Given the description of an element on the screen output the (x, y) to click on. 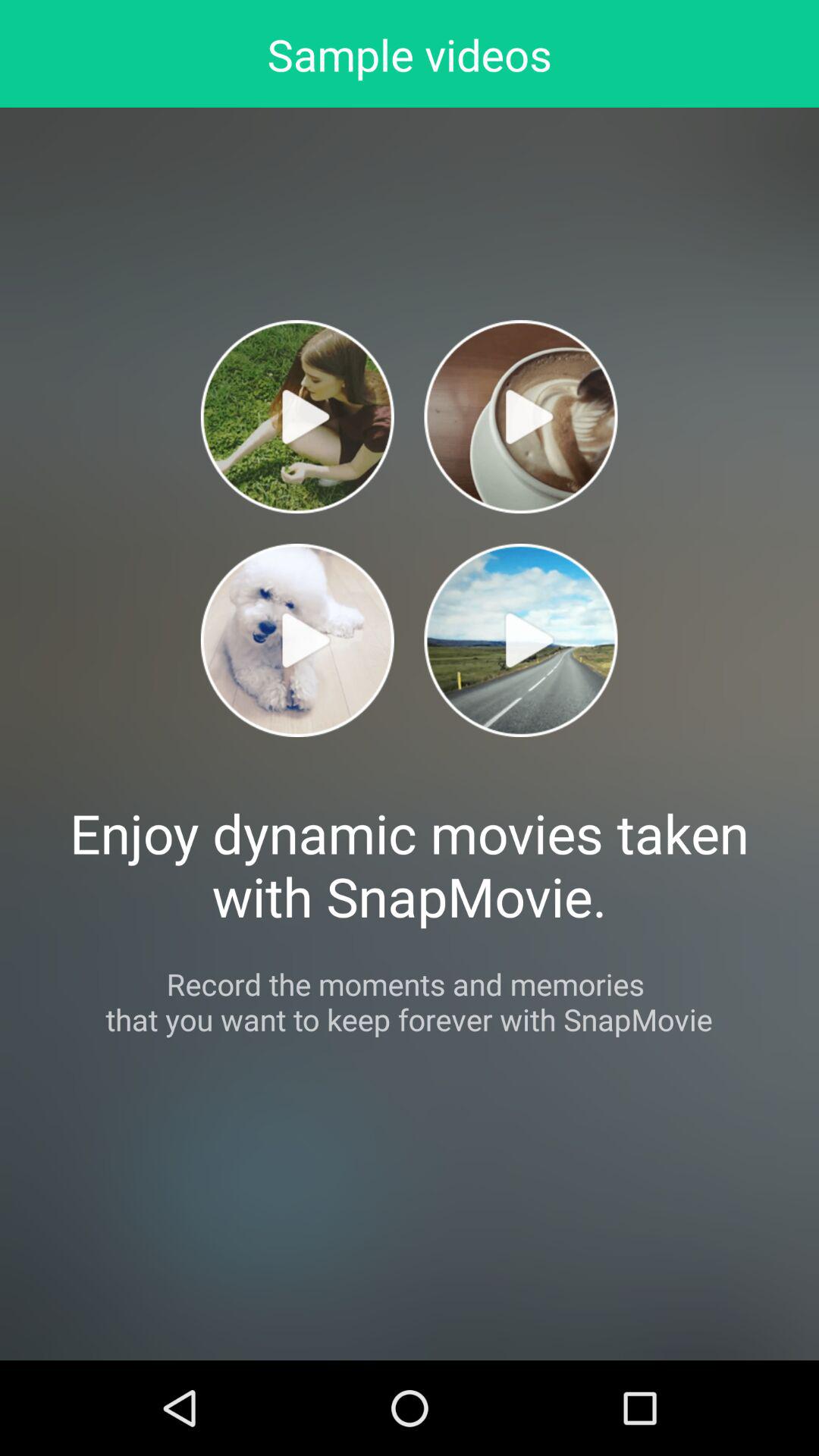
click on play button (297, 416)
